Given the description of an element on the screen output the (x, y) to click on. 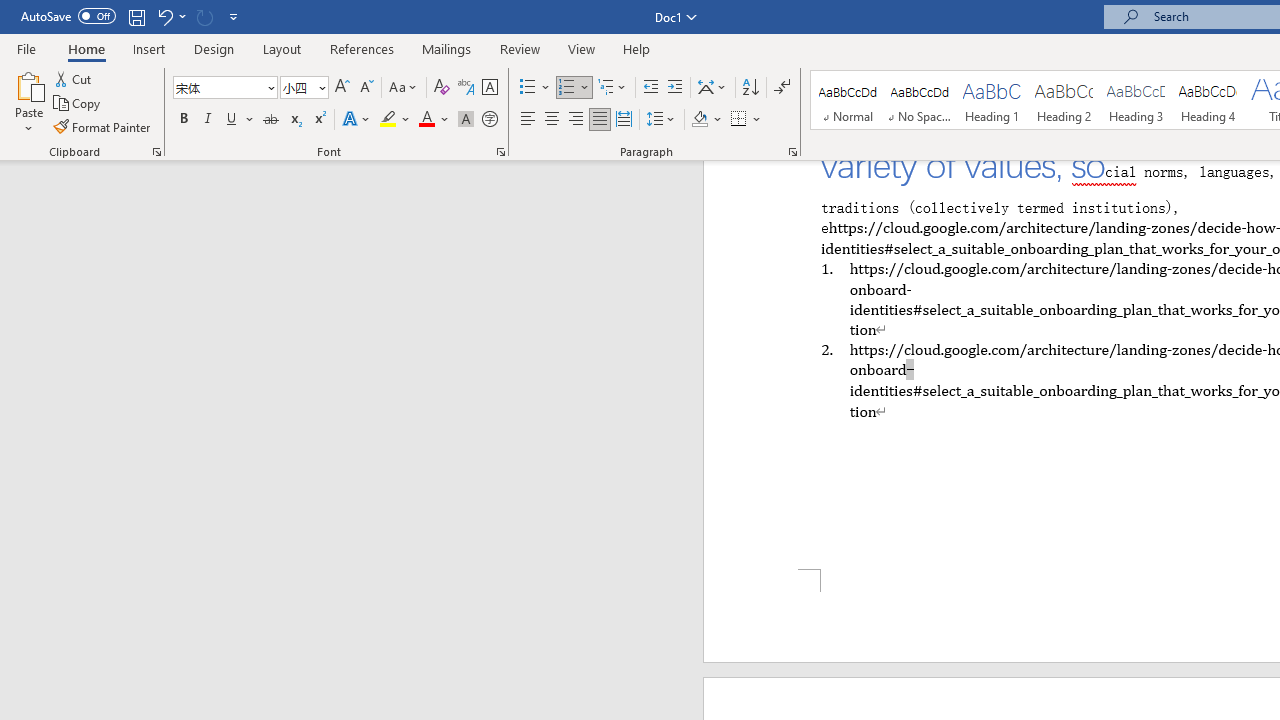
Office Clipboard... (156, 151)
Undo Apply Quick Style (164, 15)
Decrease Indent (650, 87)
Superscript (319, 119)
Grow Font (342, 87)
Sort... (750, 87)
Shading RGB(0, 0, 0) (699, 119)
Font Color (434, 119)
Heading 1 (991, 100)
Font... (500, 151)
